Given the description of an element on the screen output the (x, y) to click on. 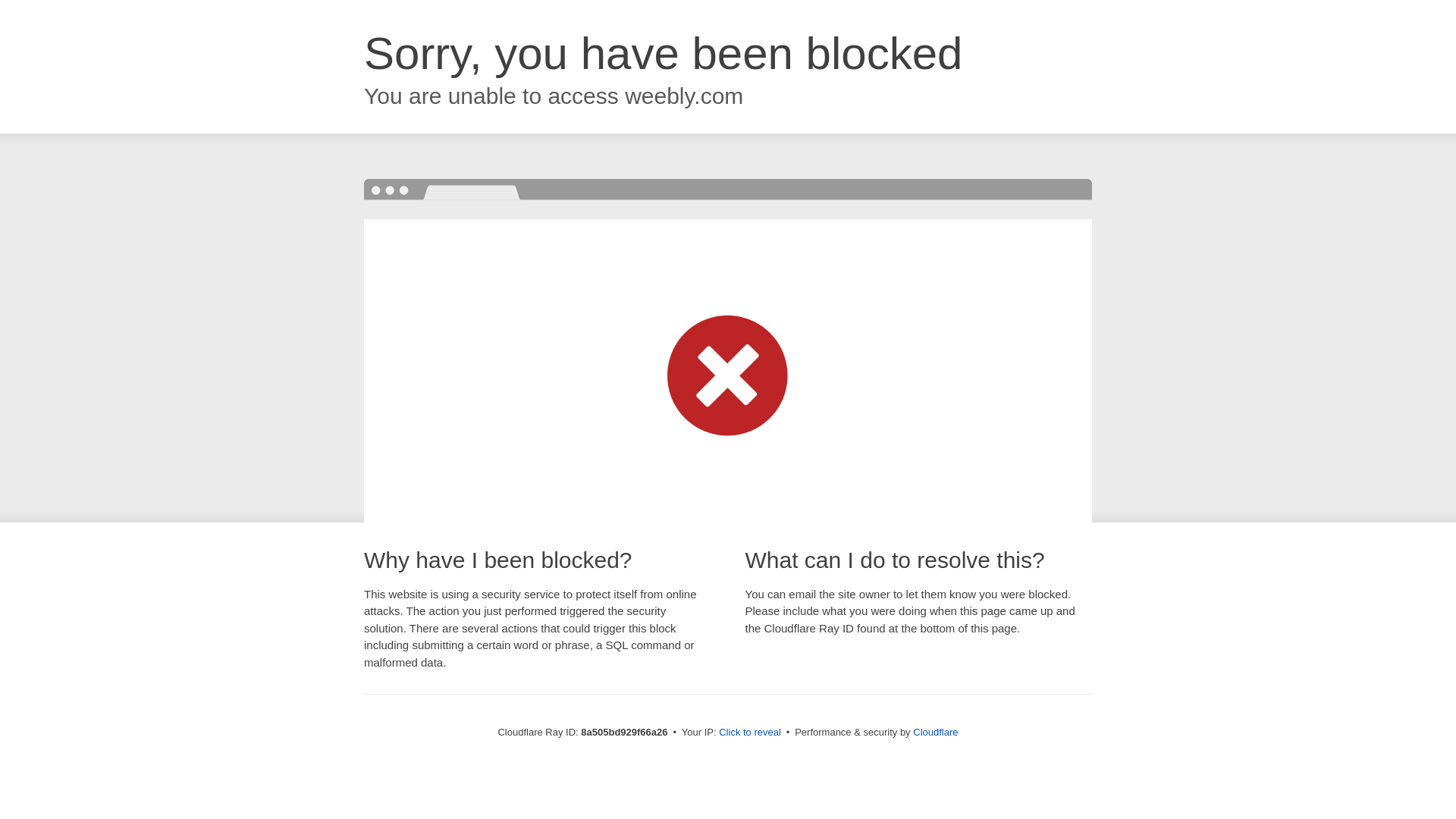
Click to reveal (749, 732)
Cloudflare (935, 731)
